Given the description of an element on the screen output the (x, y) to click on. 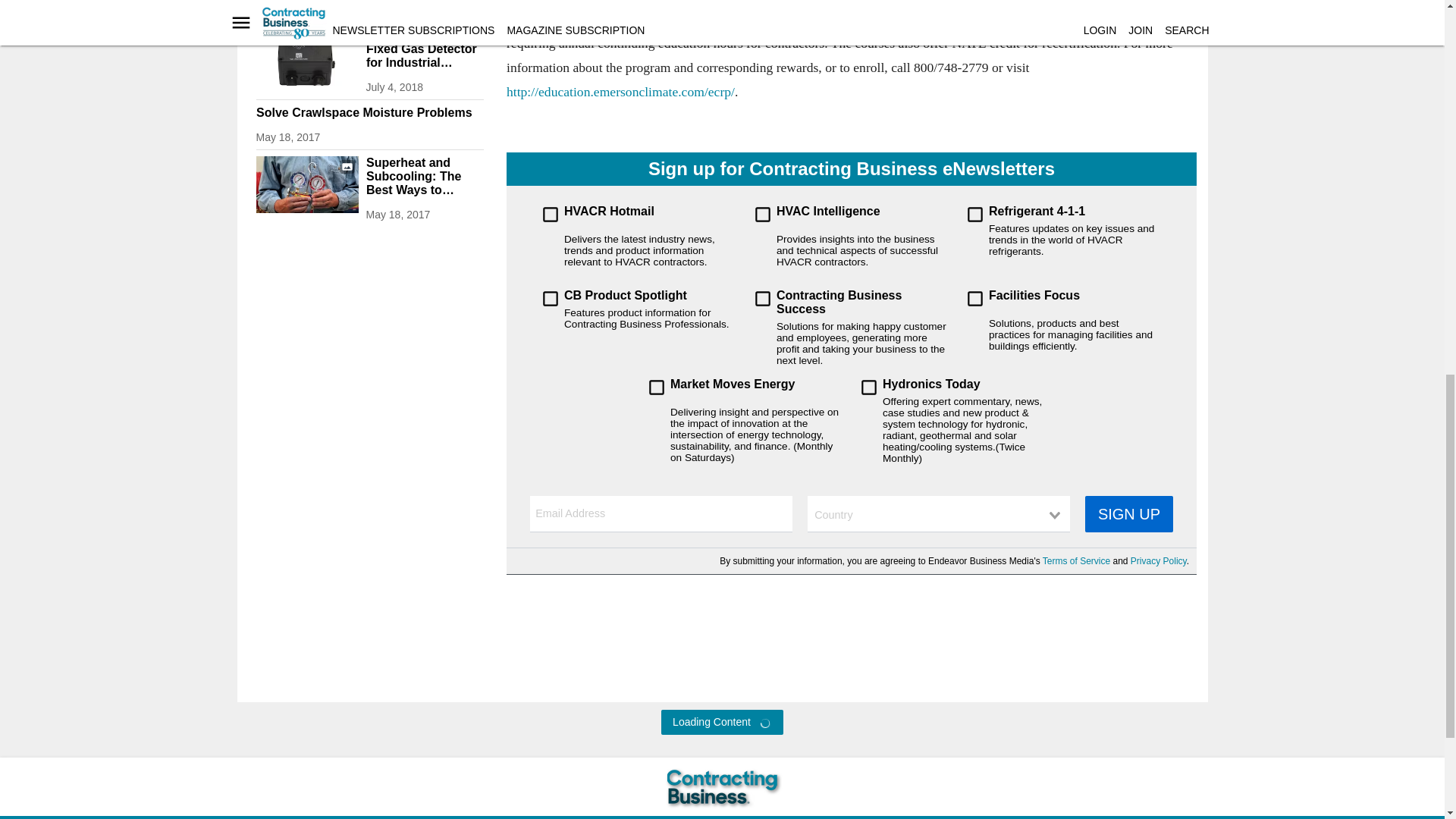
Refrigerant Gauges (307, 184)
print (307, 4)
